Given the description of an element on the screen output the (x, y) to click on. 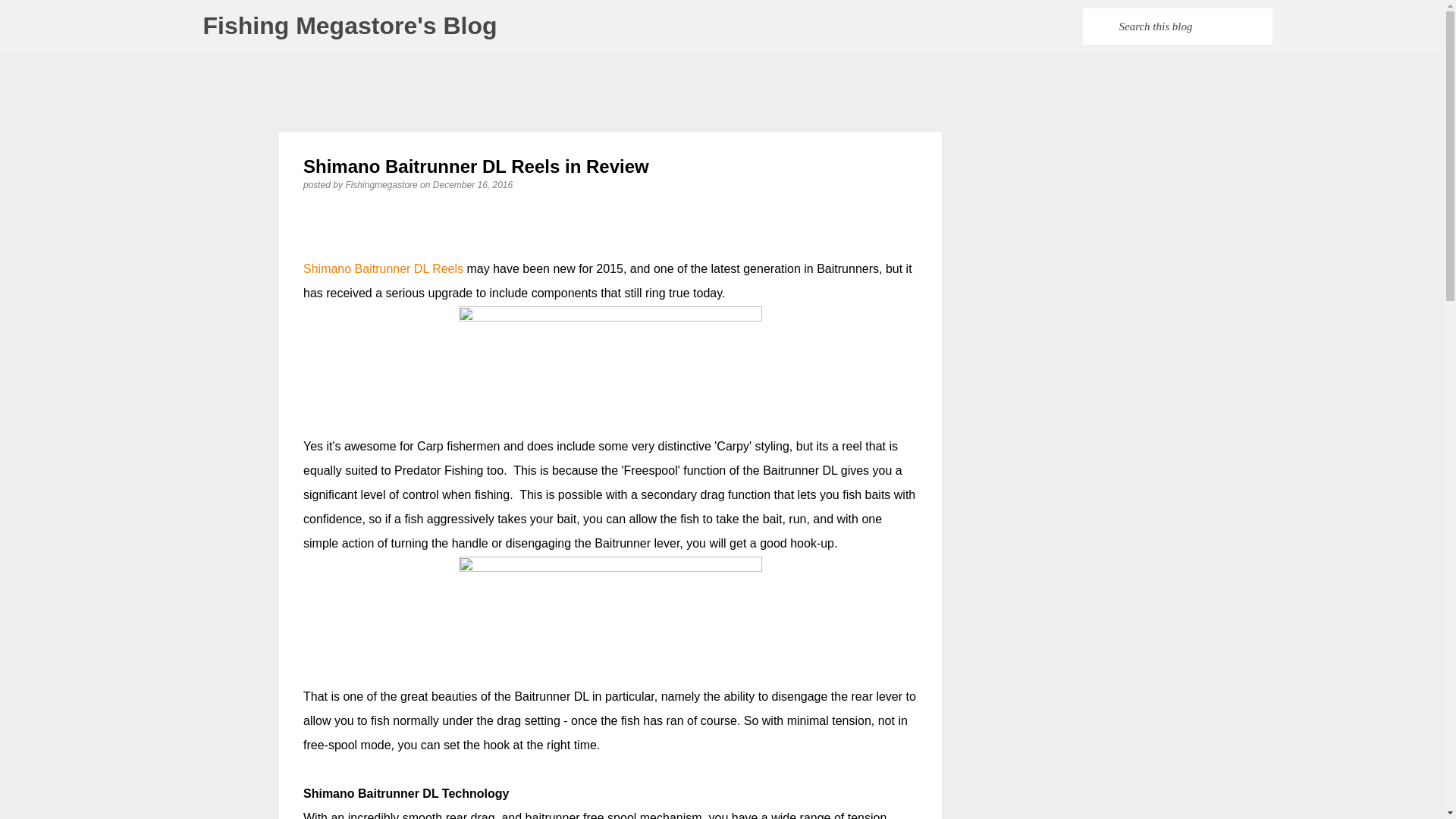
Shimano Baitrunner DL Reels (382, 268)
permanent link (472, 184)
December 16, 2016 (472, 184)
Fishing Megastore's Blog (350, 25)
author profile (382, 184)
Fishingmegastore (382, 184)
